Given the description of an element on the screen output the (x, y) to click on. 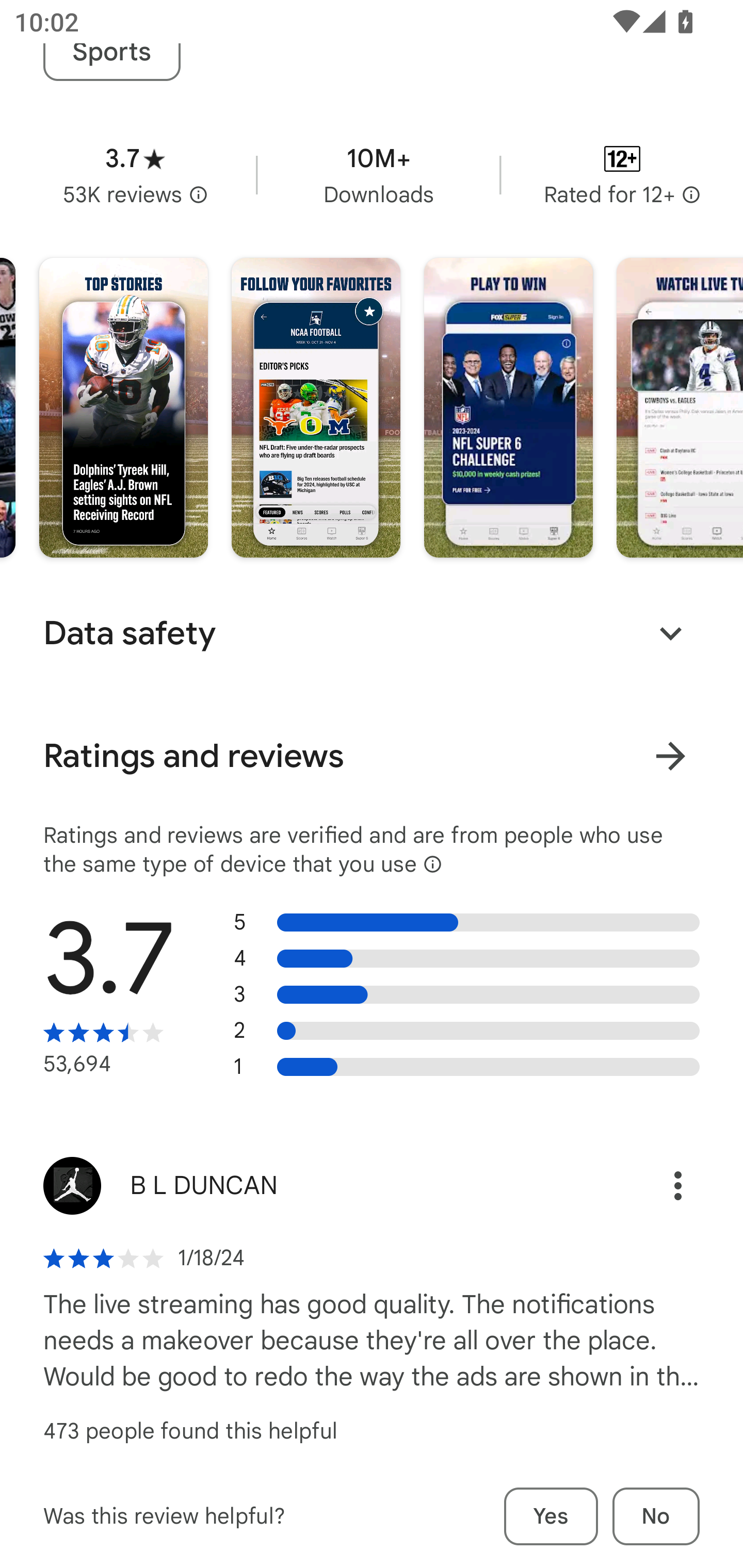
Average rating 3.7 stars in 53 thousand reviews (135, 174)
Content rating Rated for 12+ (622, 174)
Screenshot "1" of "5" (123, 407)
Screenshot "2" of "5" (315, 407)
Screenshot "3" of "5" (508, 407)
Screenshot "4" of "5" (679, 407)
Data safety Expand (371, 633)
Expand (670, 633)
Ratings and reviews View all ratings and reviews (371, 755)
View all ratings and reviews (670, 756)
Options (655, 1186)
Yes (550, 1516)
No (655, 1516)
